Given the description of an element on the screen output the (x, y) to click on. 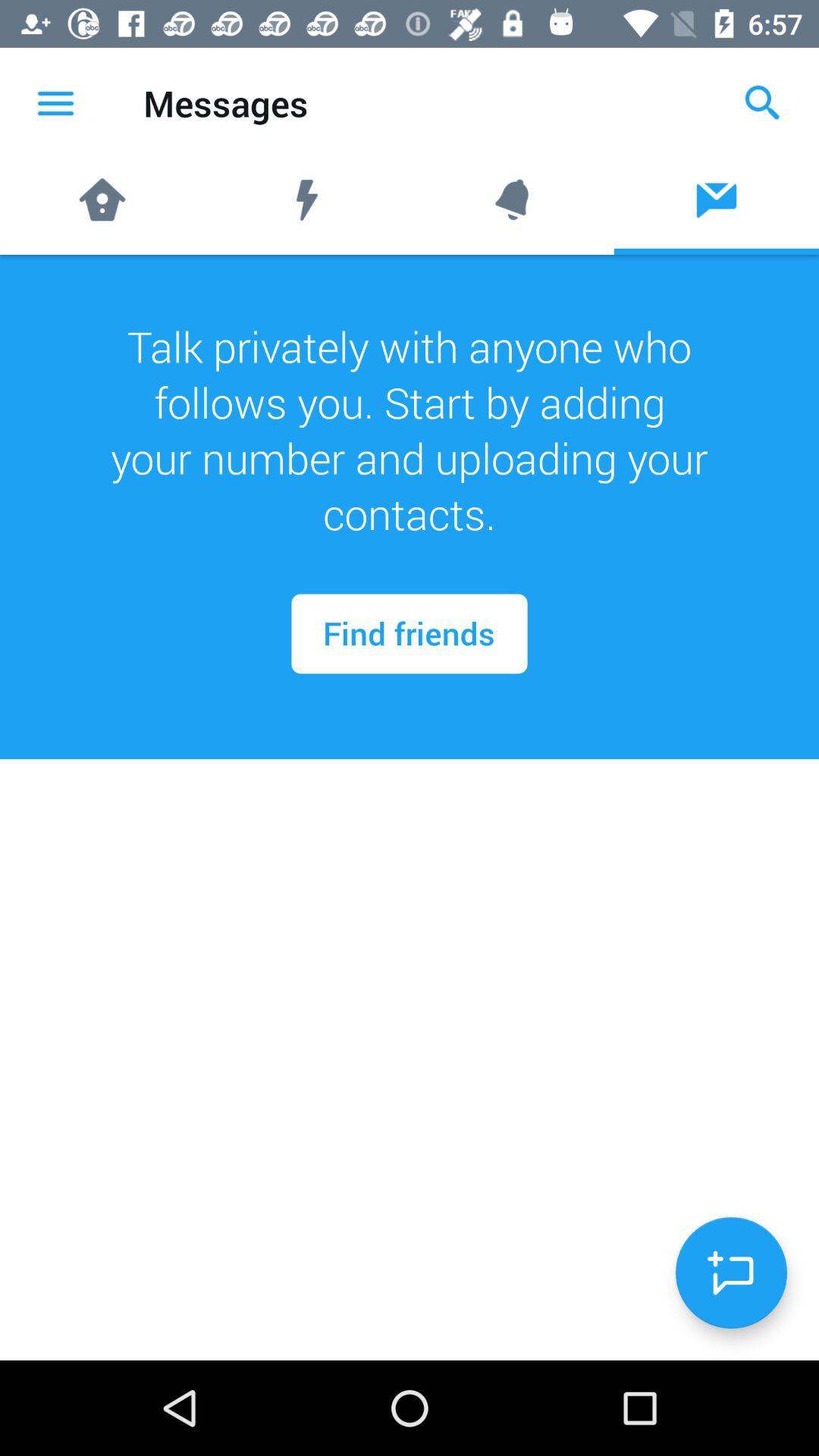
scroll until the find friends icon (409, 633)
